Given the description of an element on the screen output the (x, y) to click on. 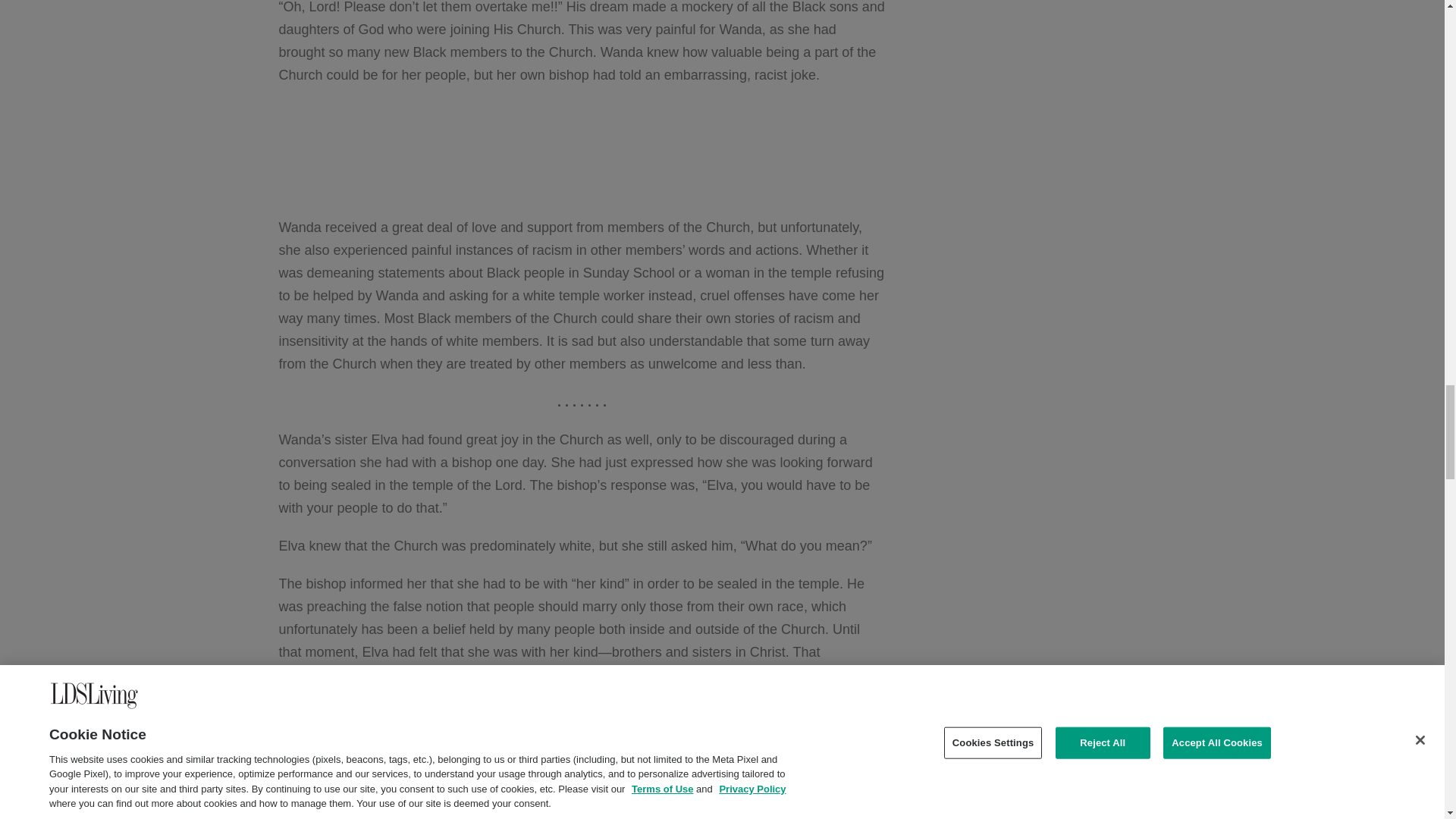
3rd party ad content (582, 151)
3rd party ad content (582, 750)
